Given the description of an element on the screen output the (x, y) to click on. 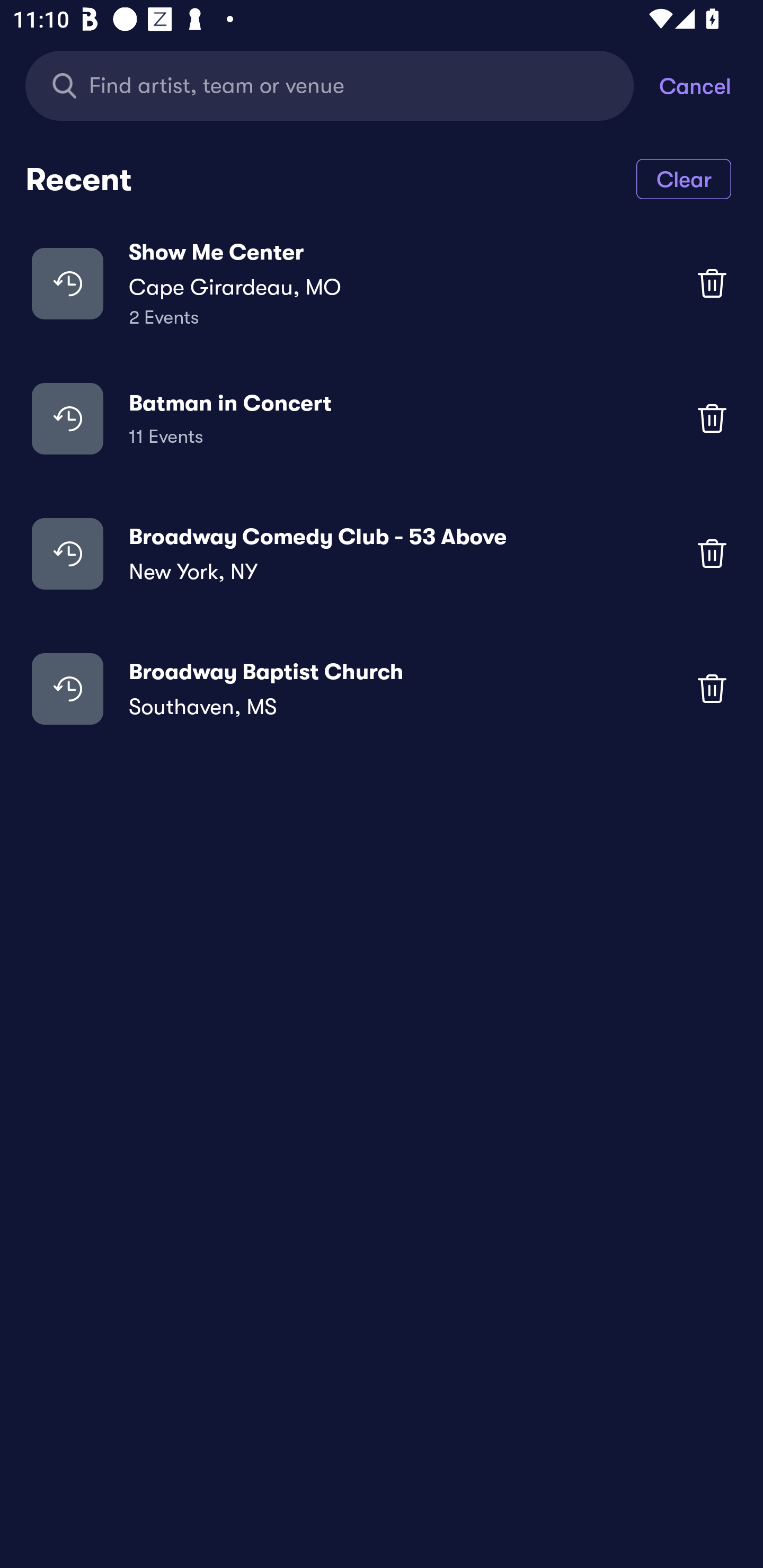
Find artist, team or venue Find (329, 85)
Find artist, team or venue Find (342, 85)
Cancel (711, 85)
Clear (683, 178)
Show Me Center Cape Girardeau, MO 2 Events (381, 282)
Batman in Concert 11 Events (381, 417)
Broadway Comedy Club - 53 Above New York, NY (381, 553)
Broadway Baptist Church Southaven, MS (381, 688)
